Given the description of an element on the screen output the (x, y) to click on. 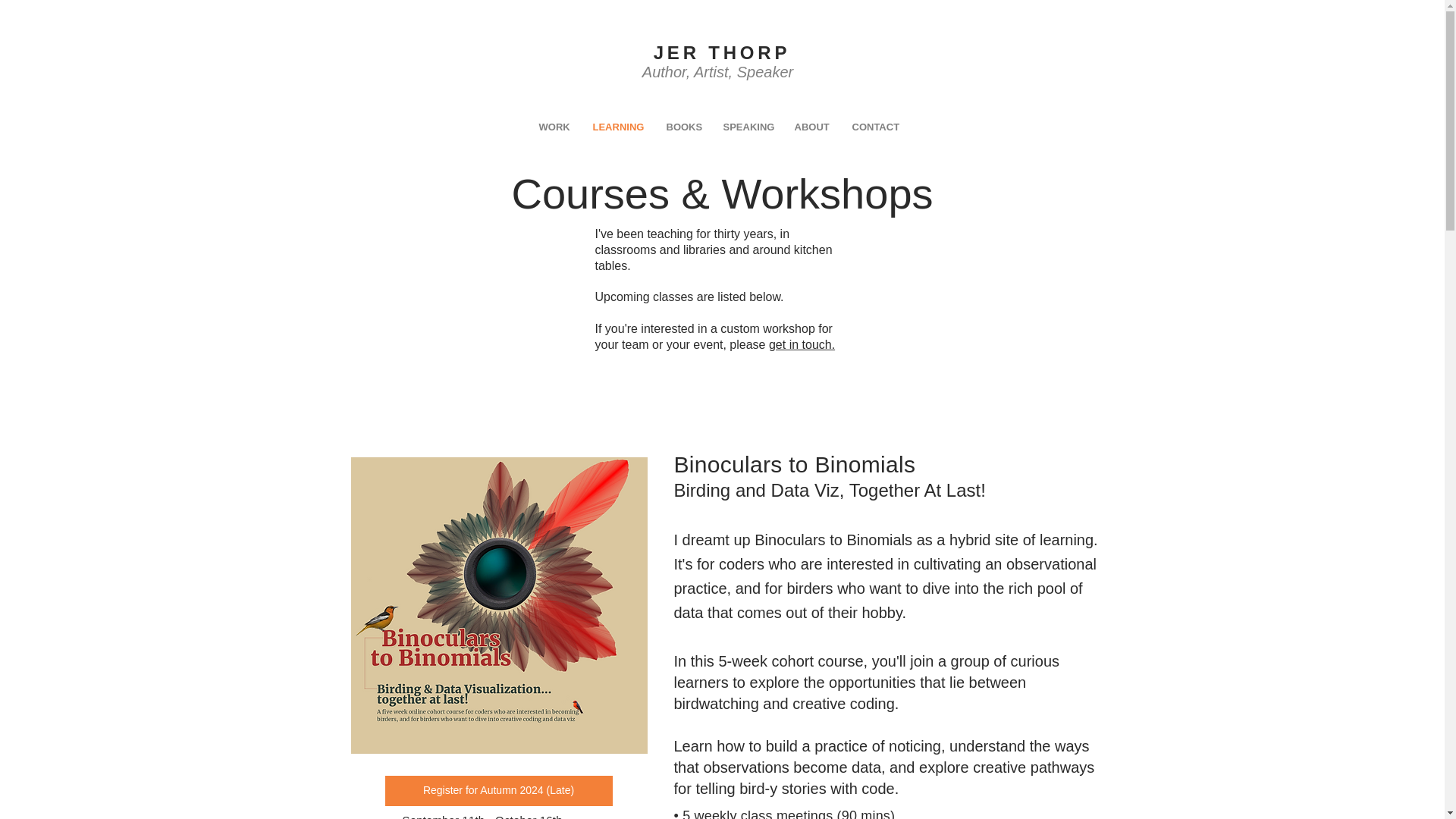
get in touch. (801, 344)
LEARNING (616, 126)
JER THORP (721, 52)
WORK (553, 126)
ABOUT (811, 126)
SPEAKING (747, 126)
BOOKS (683, 126)
CONTACT (874, 126)
